Given the description of an element on the screen output the (x, y) to click on. 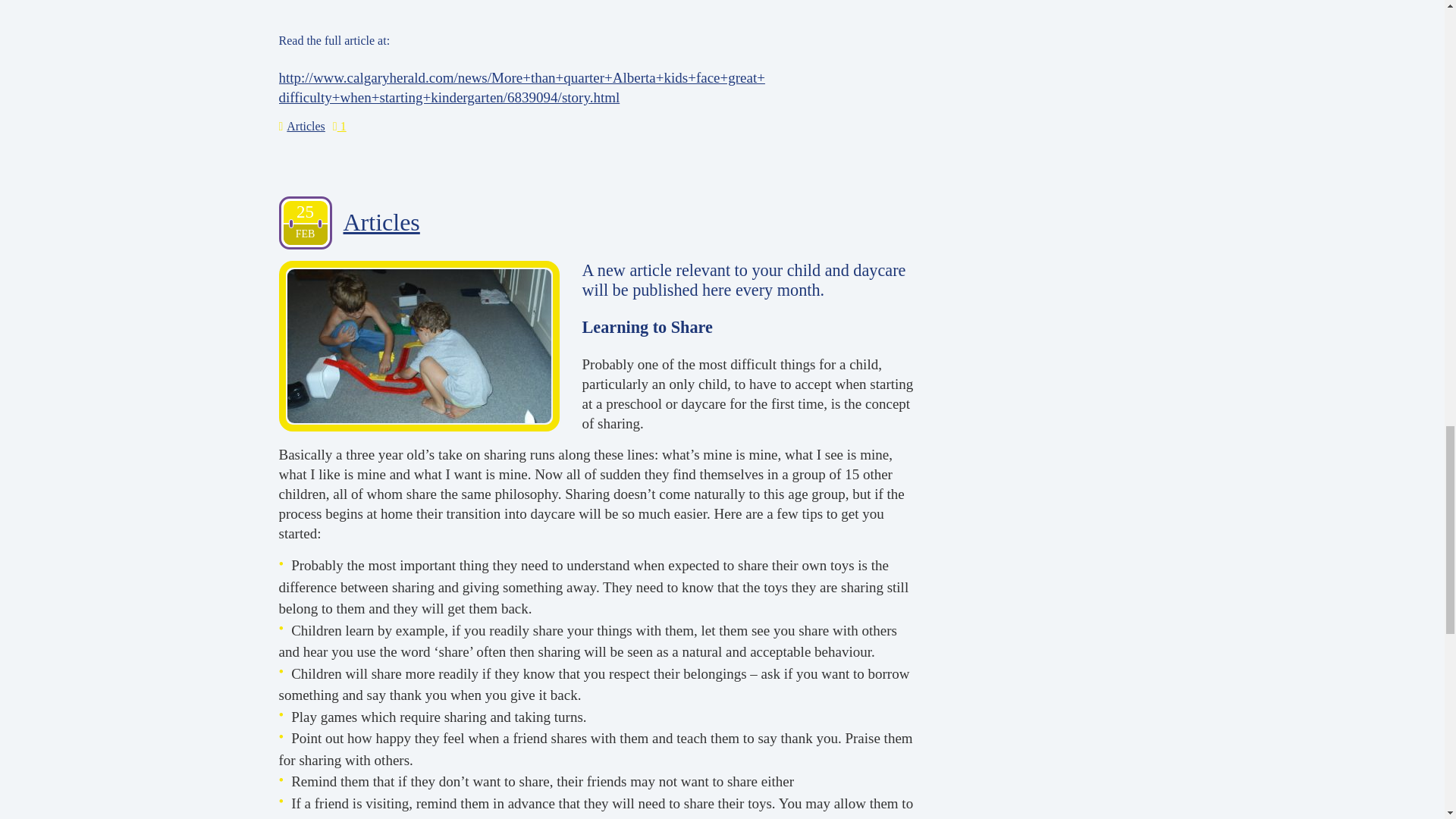
1 (339, 125)
Feb (305, 233)
Articles (305, 125)
Articles (380, 222)
